Given the description of an element on the screen output the (x, y) to click on. 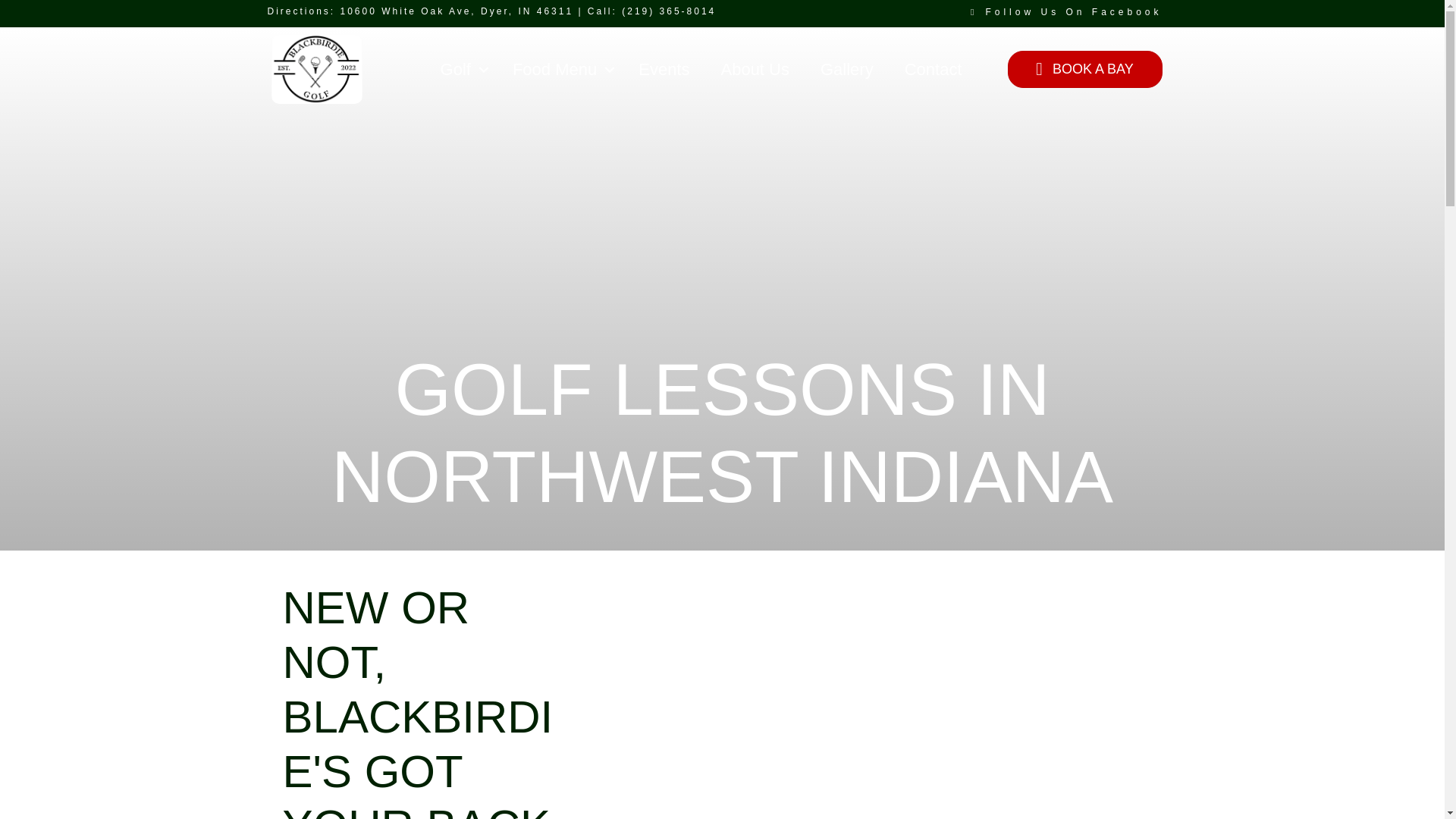
Contact (932, 69)
DSC09912 (873, 737)
About Us (754, 69)
Follow Us On Facebook (1073, 11)
Food Menu (560, 69)
blackbirdie crest (316, 69)
Golf (460, 69)
Events (663, 69)
BOOK A BAY (1084, 68)
Gallery (846, 69)
